Given the description of an element on the screen output the (x, y) to click on. 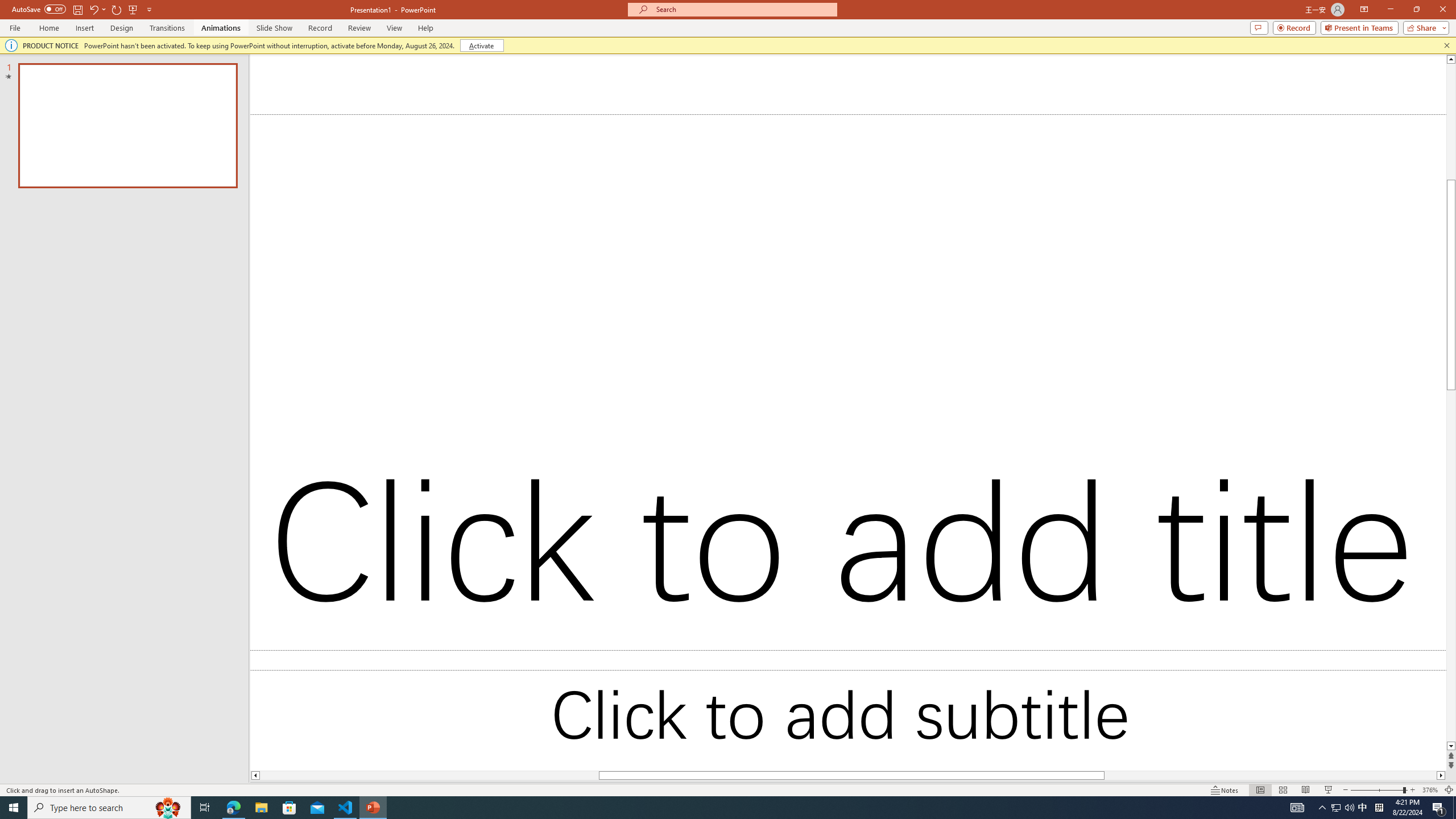
Replace... (1078, 91)
Title (1369, 325)
Help (575, 47)
Copy (63, 91)
Paragraph... (634, 128)
Center (429, 102)
Styles... (1034, 128)
Quote (1369, 424)
Multilevel List (483, 77)
Bold (98, 102)
